Given the description of an element on the screen output the (x, y) to click on. 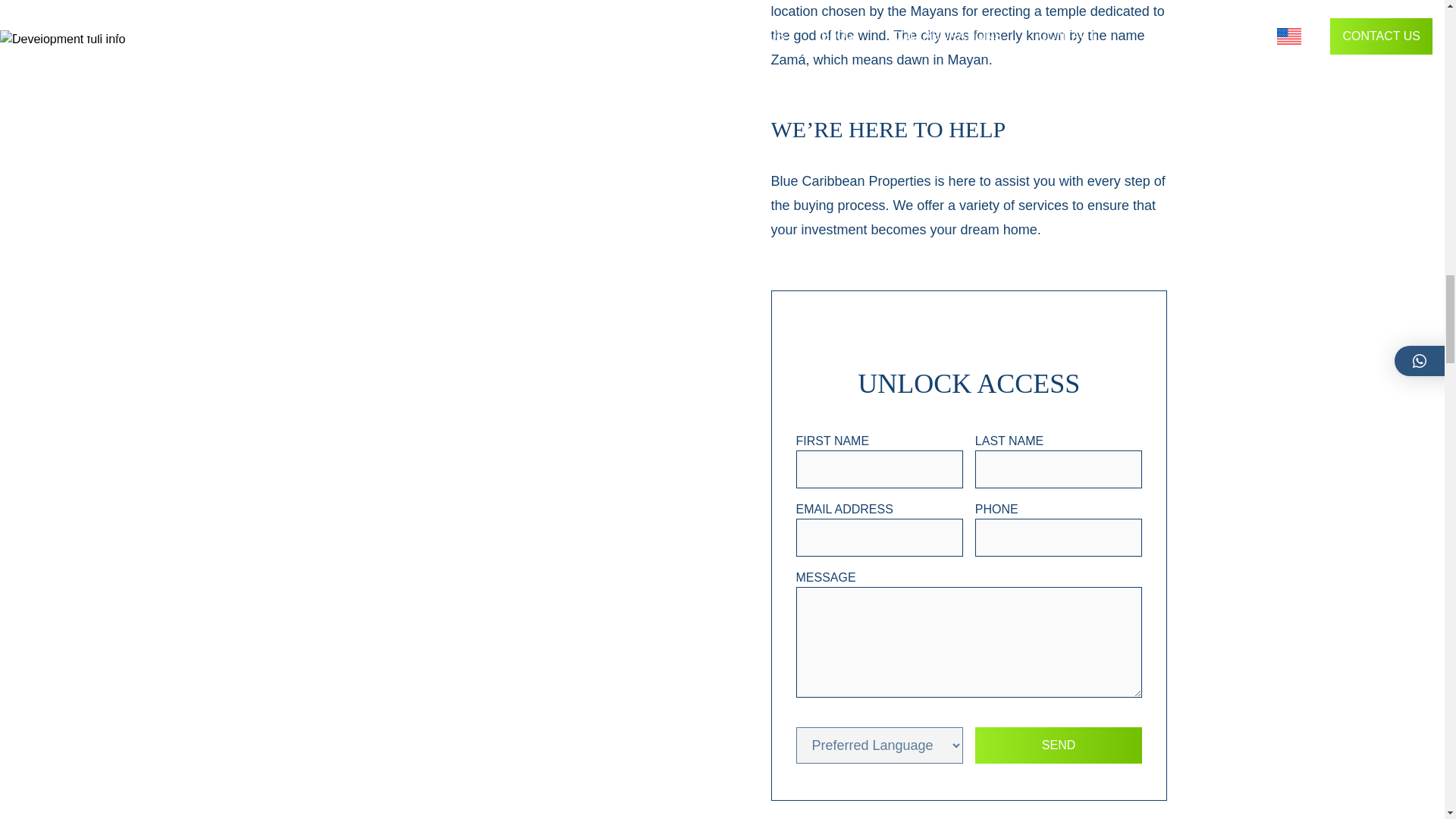
Send (1058, 745)
